Given the description of an element on the screen output the (x, y) to click on. 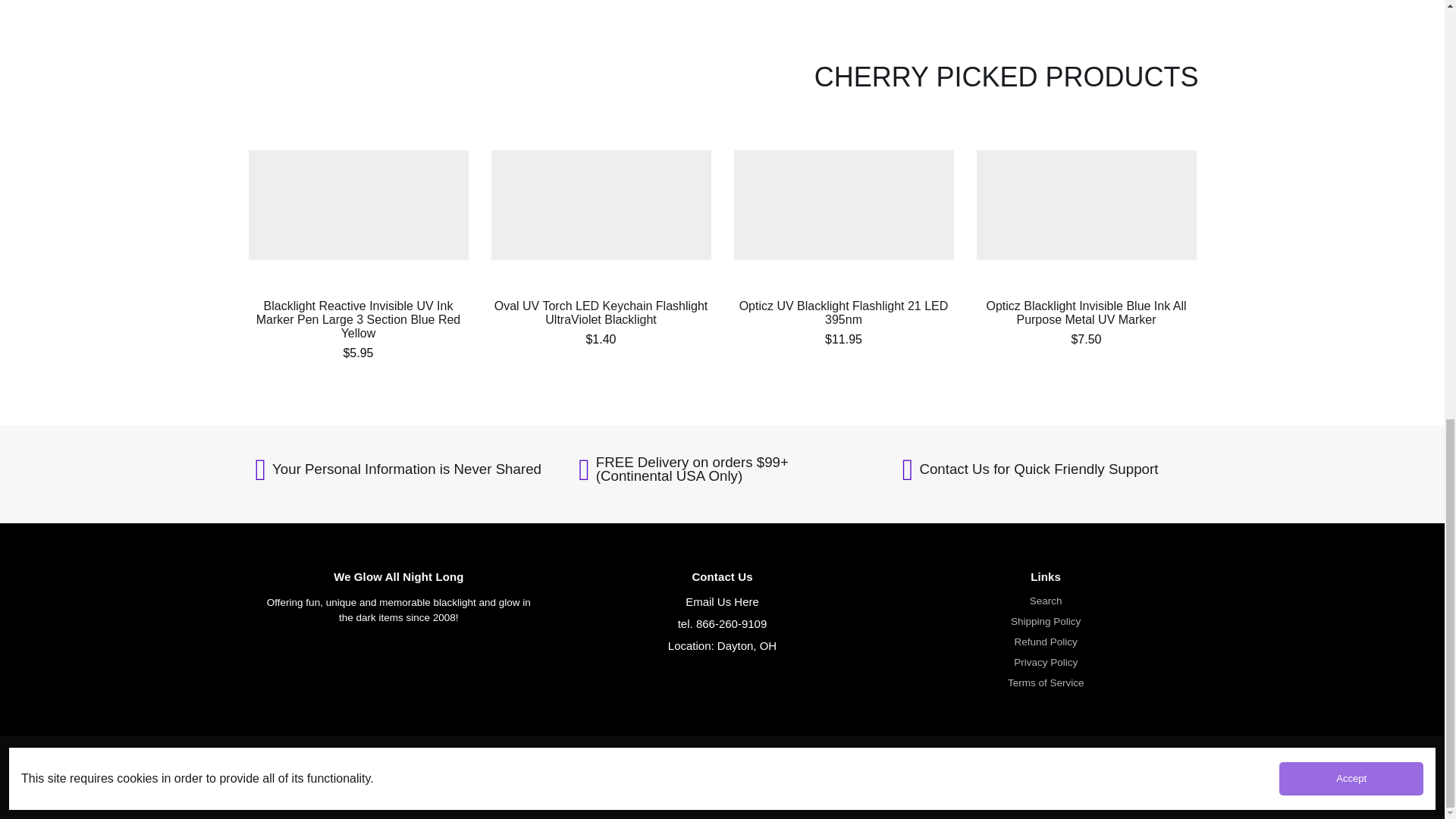
American Express (980, 782)
Mastercard (948, 782)
Discover (1012, 782)
Amazon (1109, 782)
PayPal (1044, 782)
Visa (916, 782)
Apple Pay (1077, 782)
